Given the description of an element on the screen output the (x, y) to click on. 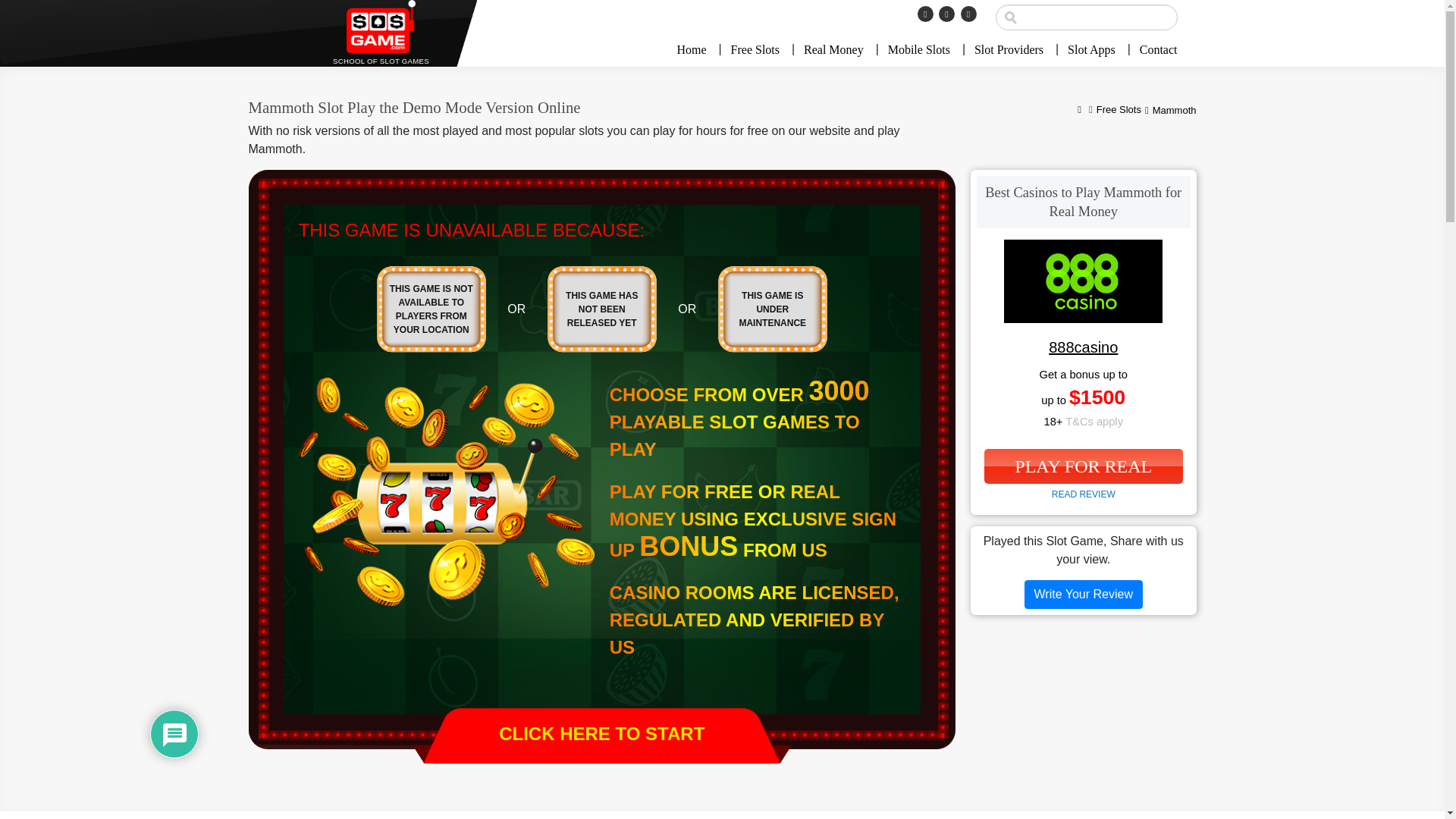
Slot Apps (1090, 49)
Real Money (834, 49)
READ REVIEW (1083, 494)
SCHOOL OF SLOT GAMES (380, 32)
Mobile Slots (919, 49)
Write Your Review (1083, 594)
Free Slots (1118, 110)
View all posts in Free Slots (1118, 110)
CLICK HERE TO START (602, 735)
Home (697, 49)
Slot Providers (1008, 49)
Home (1079, 110)
Free Slots (755, 49)
PLAY FOR REAL (1083, 466)
Contact (1151, 49)
